Given the description of an element on the screen output the (x, y) to click on. 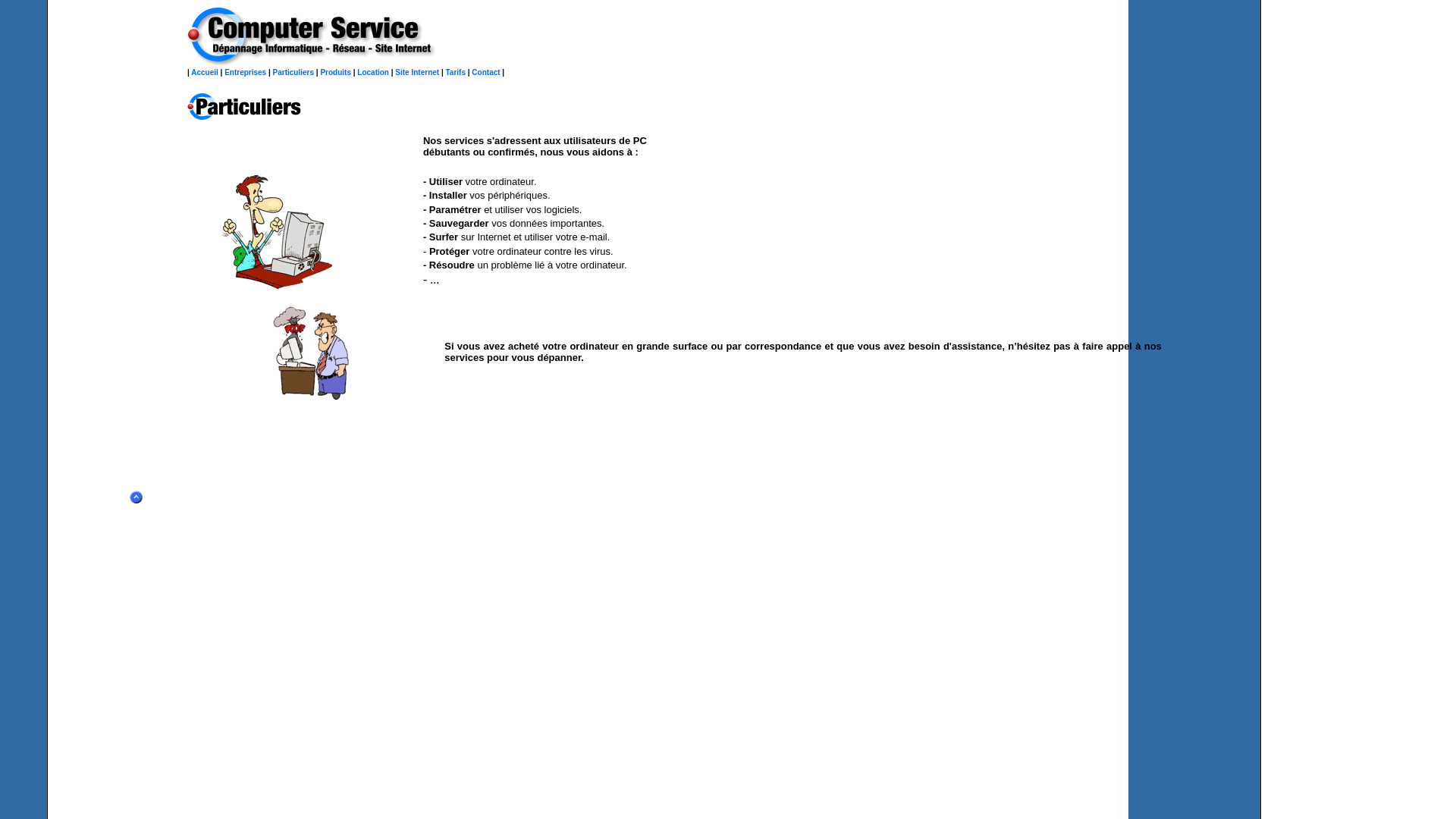
Site Internet Element type: text (417, 72)
Contact Element type: text (485, 72)
Particuliers Element type: text (293, 72)
Produits Element type: text (335, 72)
Entreprises Element type: text (245, 72)
Accueil Element type: text (204, 72)
Location Element type: text (373, 72)
Tarifs Element type: text (455, 72)
